Given the description of an element on the screen output the (x, y) to click on. 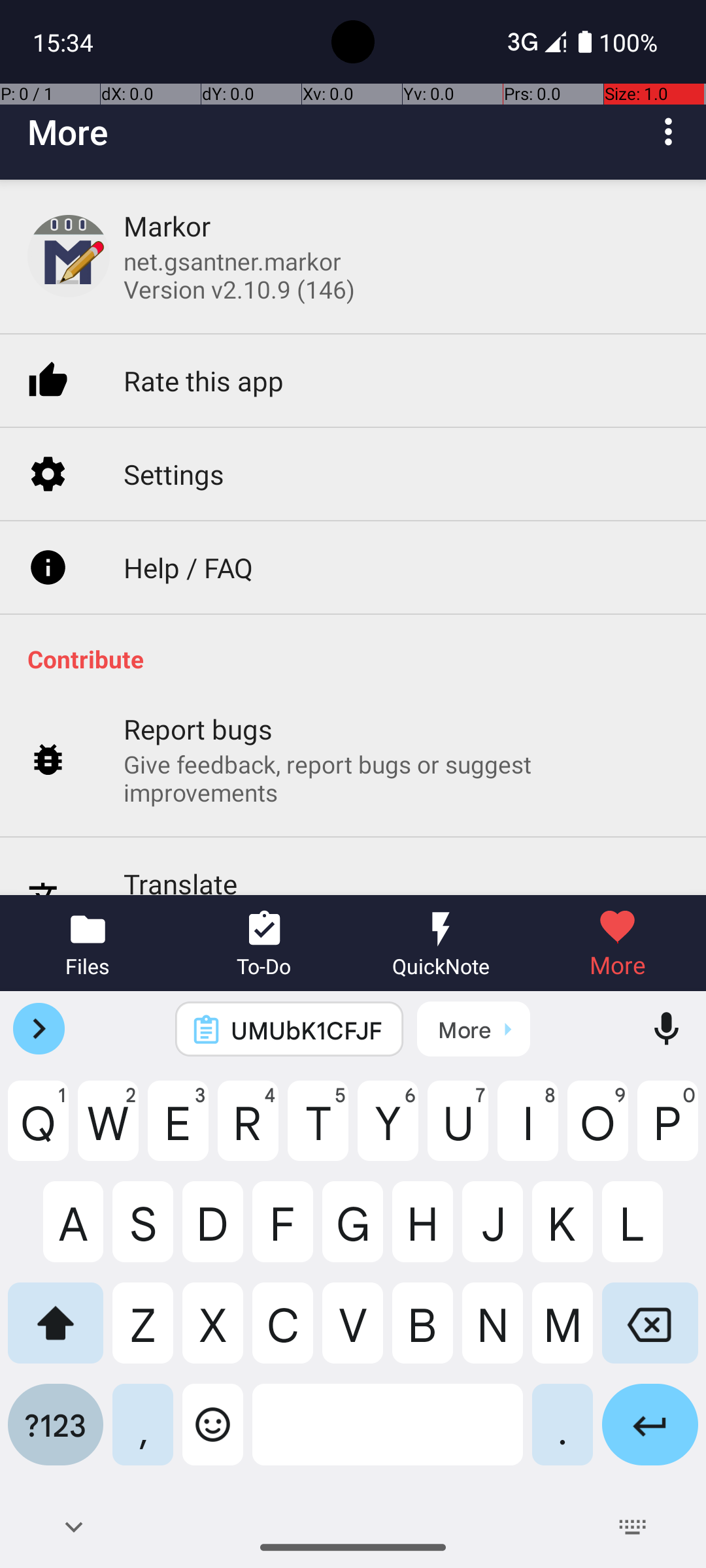
Contribute Element type: android.widget.TextView (359, 629)
net.gsantner.markor
Version v2.10.9 (146) Element type: android.widget.TextView (239, 274)
Rate this app Element type: android.widget.TextView (203, 352)
Help / FAQ Element type: android.widget.TextView (188, 538)
Report bugs Element type: android.widget.TextView (198, 699)
Give feedback, report bugs or suggest improvements Element type: android.widget.TextView (400, 748)
Translate Element type: android.widget.TextView (180, 853)
Translate this app into other languages Element type: android.widget.TextView (331, 883)
UMUbK1CFJF Element type: android.widget.TextView (306, 1029)
